Given the description of an element on the screen output the (x, y) to click on. 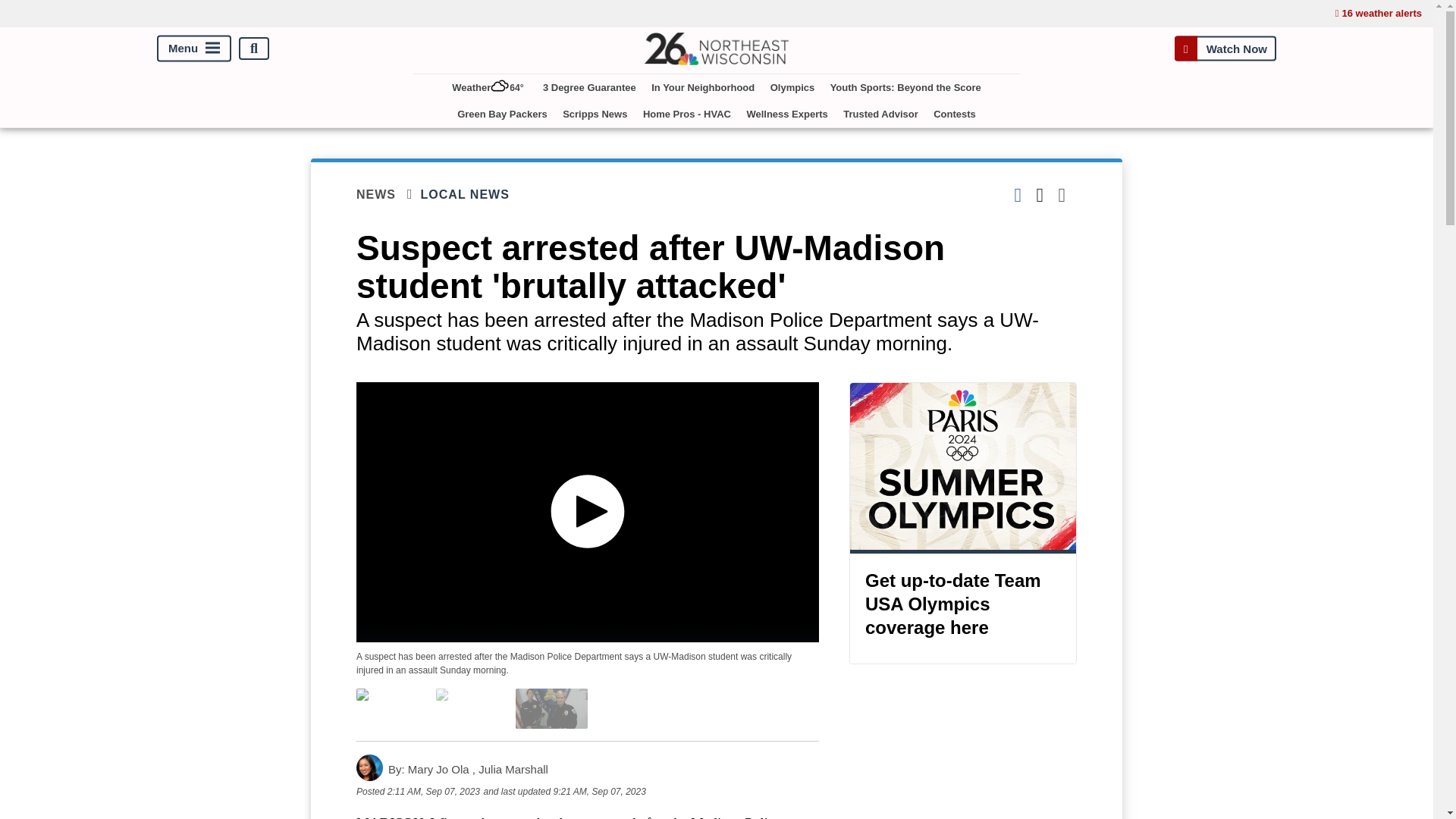
Watch Now (1224, 48)
Menu (194, 49)
